Given the description of an element on the screen output the (x, y) to click on. 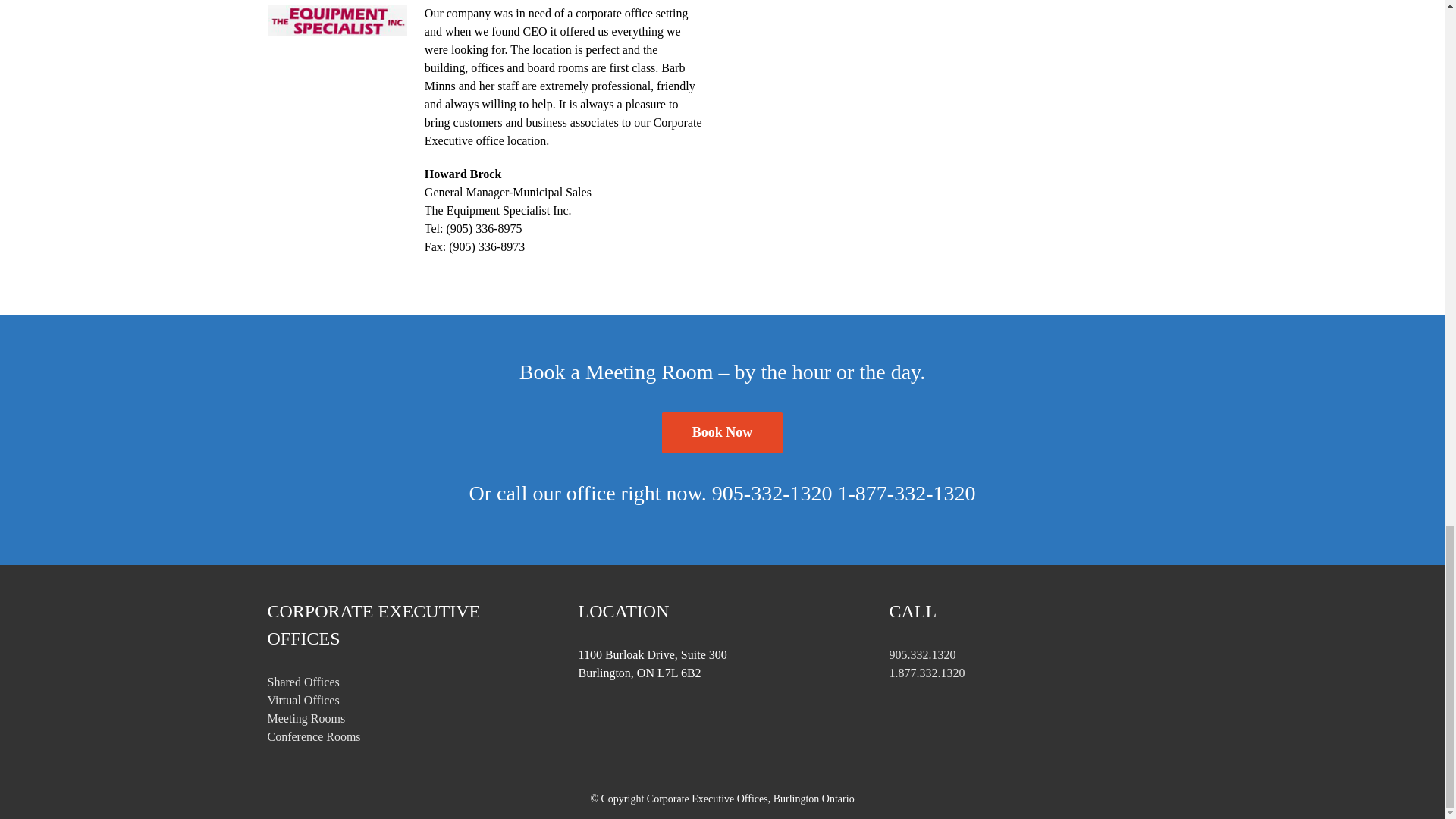
EquipmentSpecialists (336, 20)
